Given the description of an element on the screen output the (x, y) to click on. 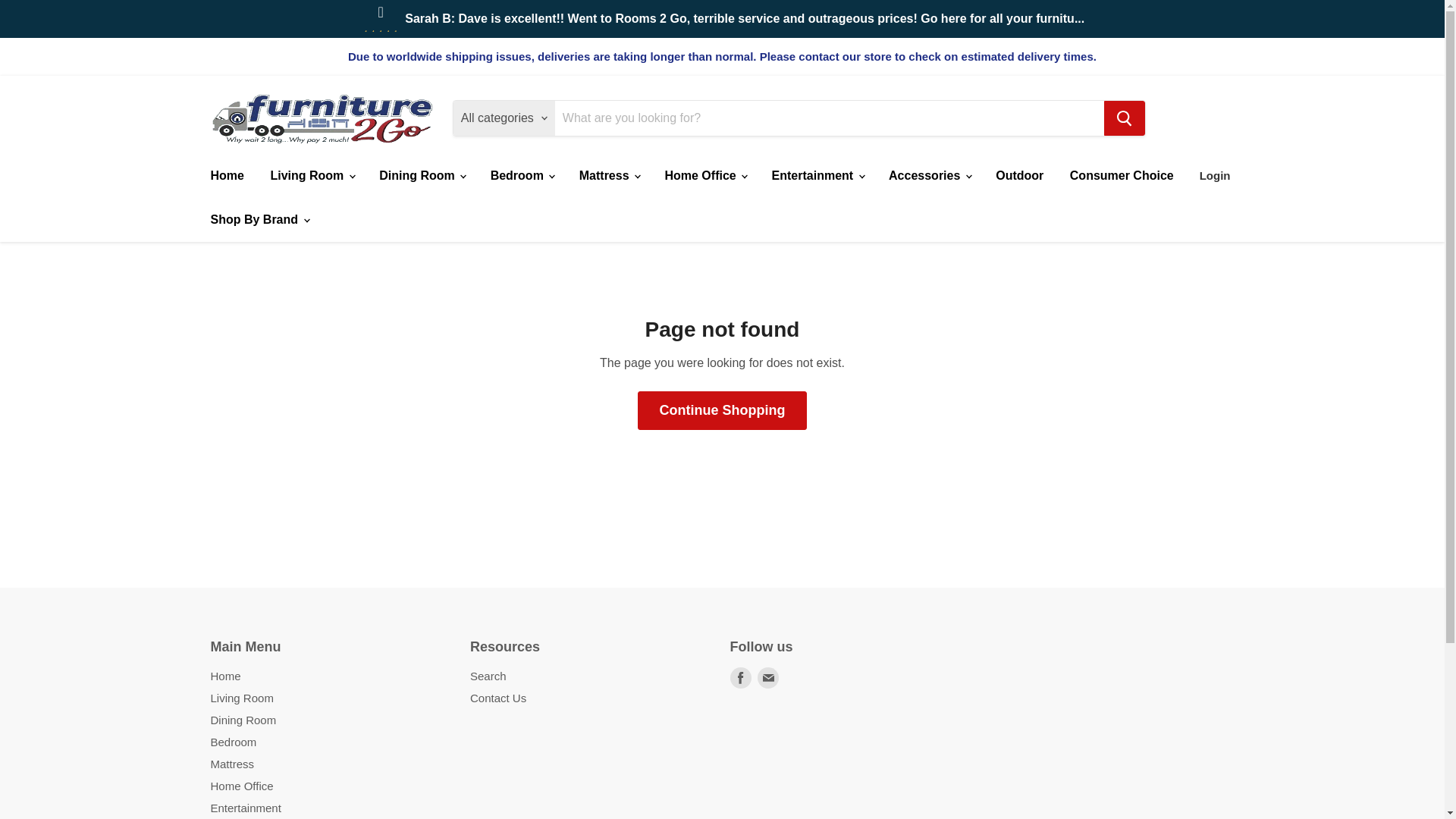
Dining Room (422, 175)
Facebook (740, 677)
Living Room (311, 175)
Home (226, 175)
E-mail (767, 677)
